Given the description of an element on the screen output the (x, y) to click on. 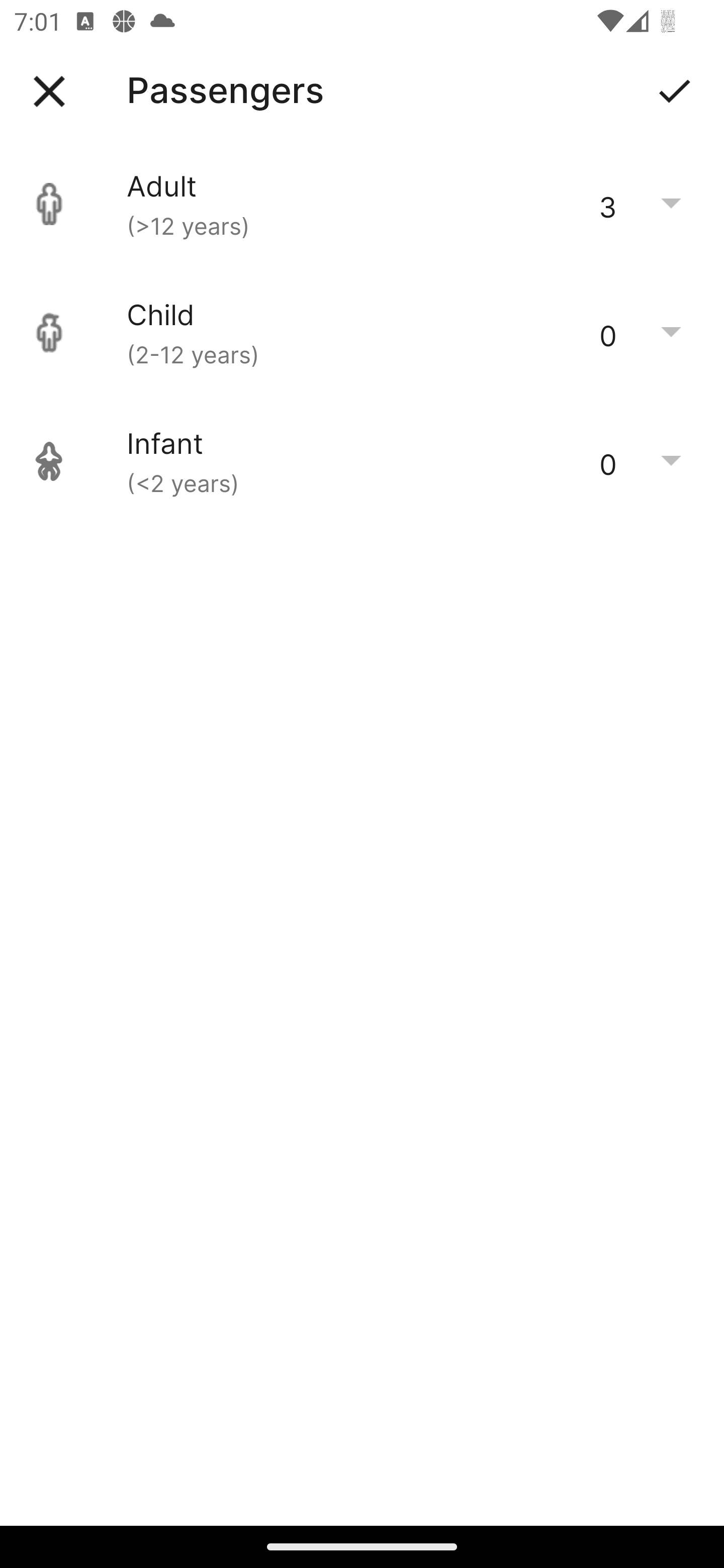
Adult (>12 years) 3 (362, 204)
Child (2-12 years) 0 (362, 332)
Infant (<2 years) 0 (362, 461)
